Given the description of an element on the screen output the (x, y) to click on. 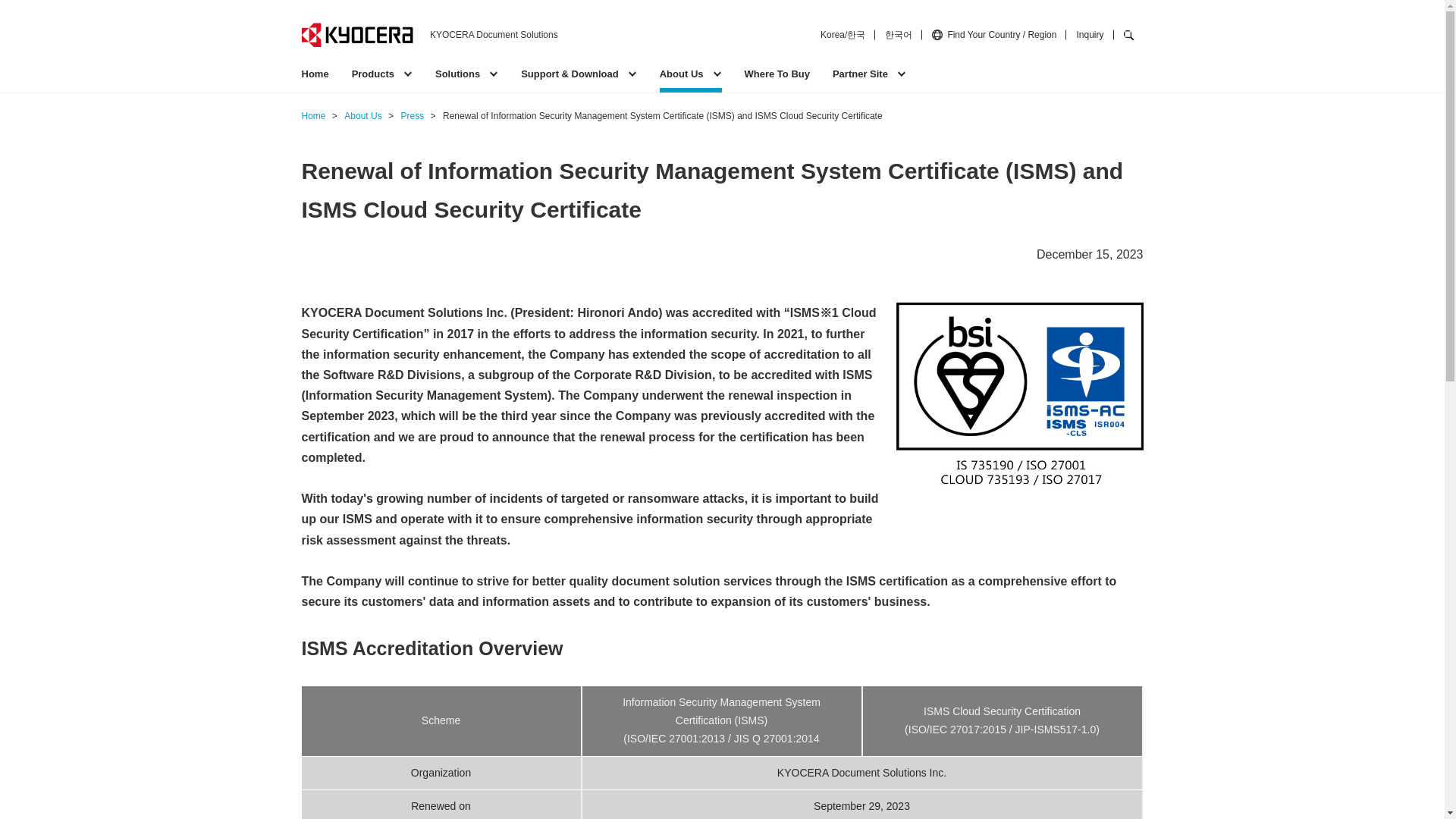
Inquiry (1089, 34)
Home (315, 79)
Where To Buy (776, 79)
